Given the description of an element on the screen output the (x, y) to click on. 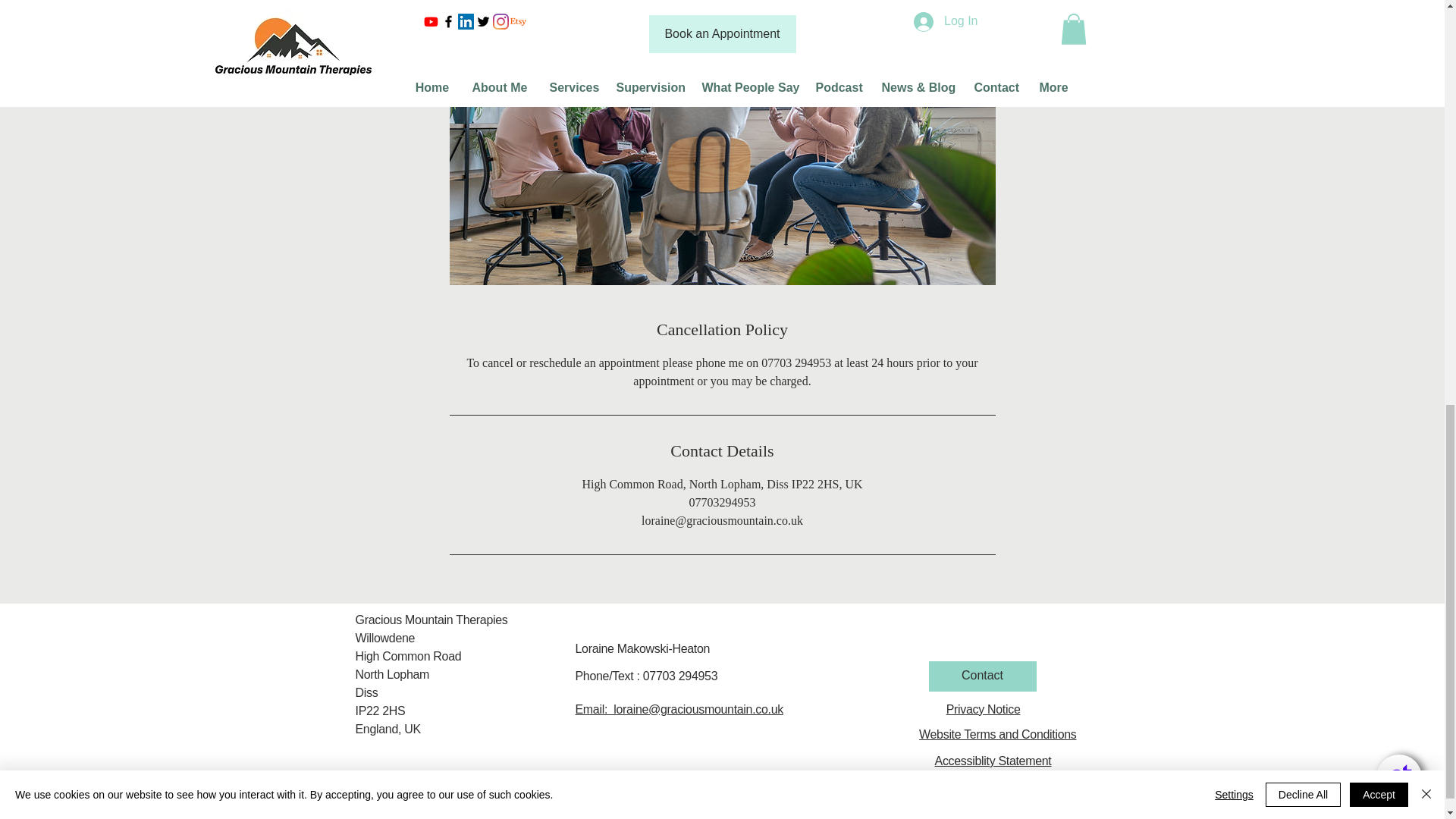
Contact (981, 675)
Privacy Notice (983, 708)
